Given the description of an element on the screen output the (x, y) to click on. 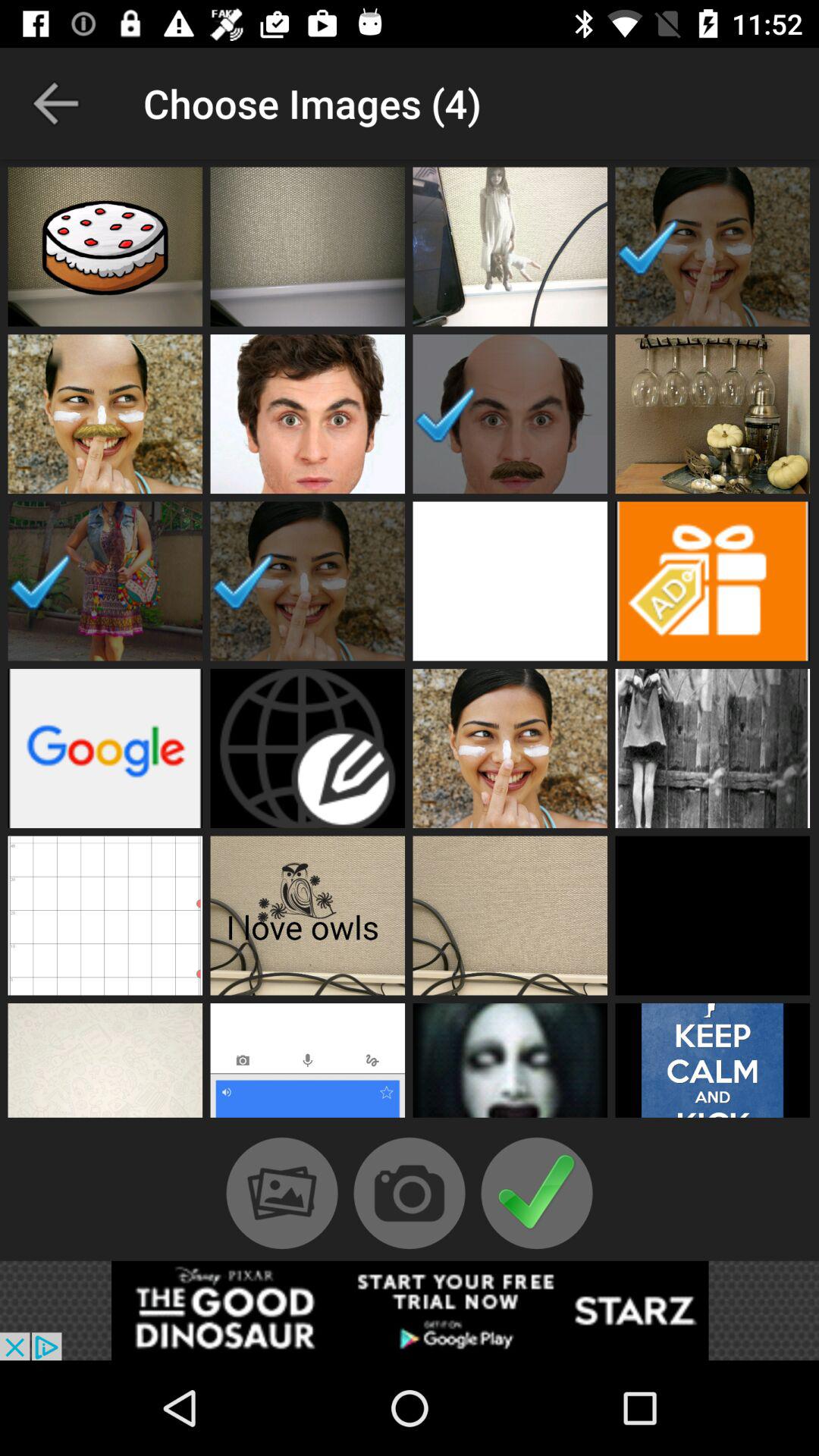
include image in video (509, 1064)
